Given the description of an element on the screen output the (x, y) to click on. 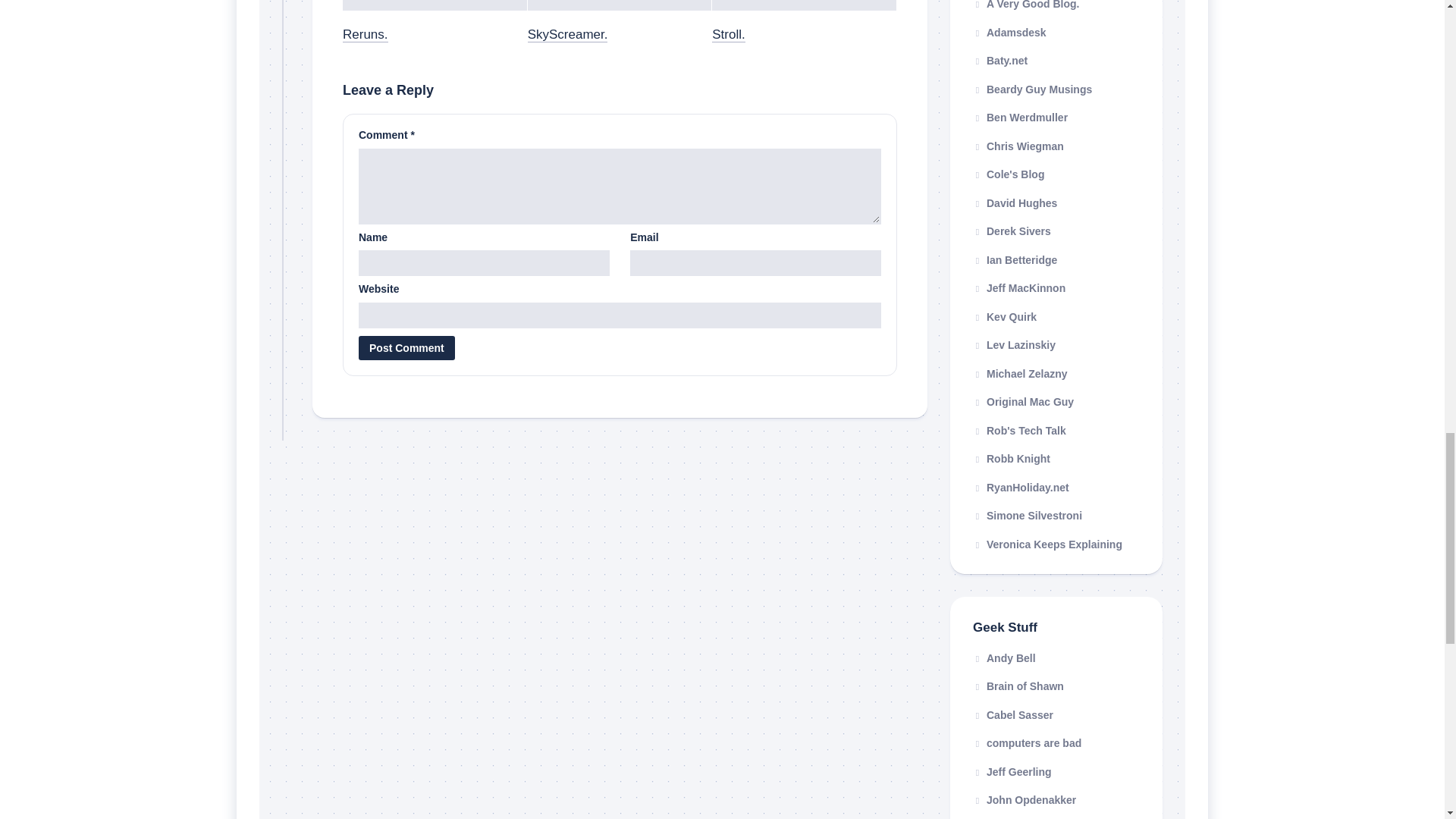
Stroll. (727, 34)
Reruns. (365, 34)
Post Comment (406, 347)
SkyScreamer. (567, 34)
Post Comment (406, 347)
